Given the description of an element on the screen output the (x, y) to click on. 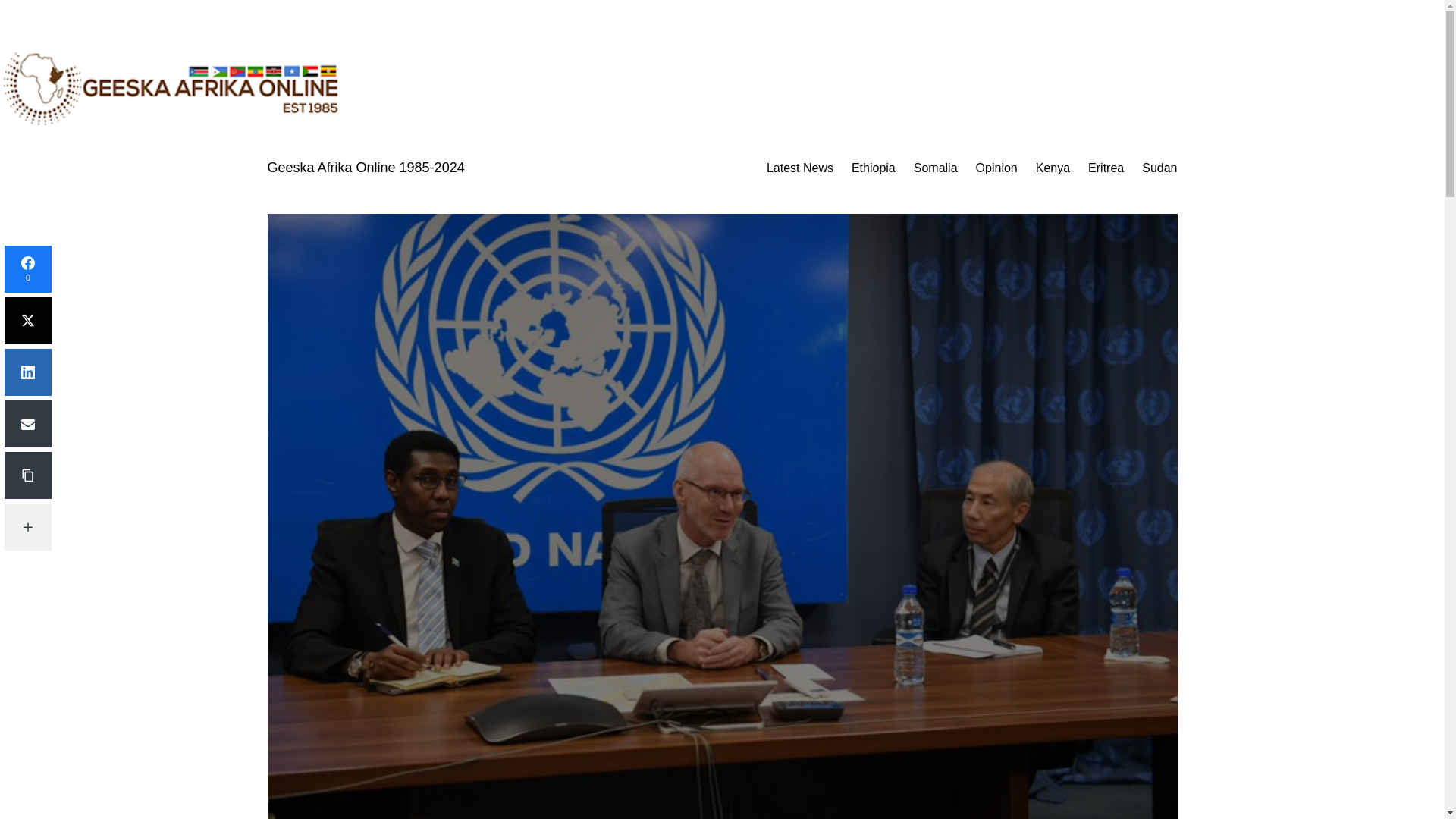
Eritrea (1105, 168)
Somalia (936, 168)
Kenya (1052, 168)
Latest News (799, 168)
Opinion (996, 168)
Geeska Afrika Online 1985-2024 (365, 167)
0 (27, 268)
Sudan (1158, 168)
Ethiopia (873, 168)
